Given the description of an element on the screen output the (x, y) to click on. 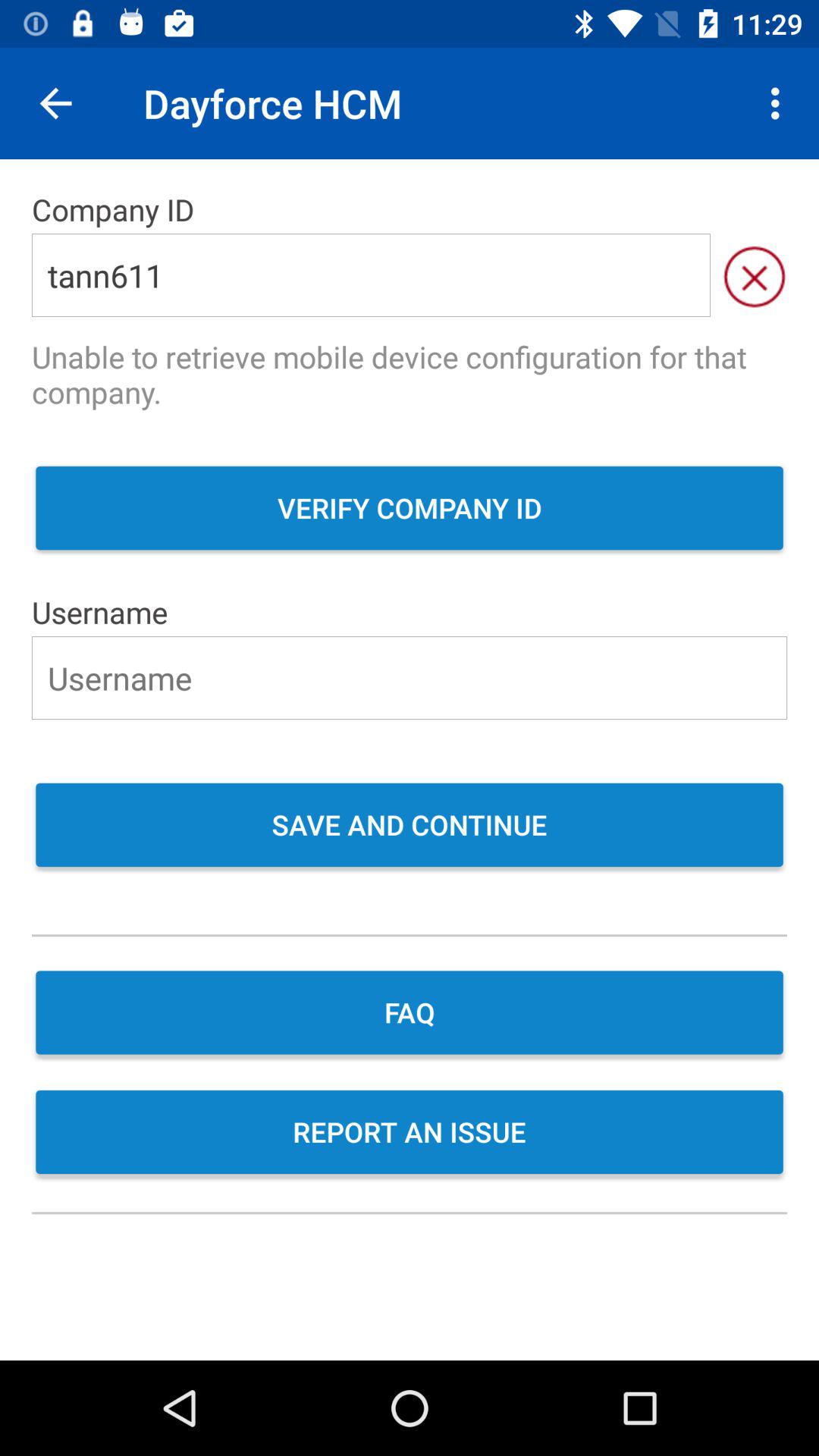
tap item above unable to retrieve (753, 274)
